Given the description of an element on the screen output the (x, y) to click on. 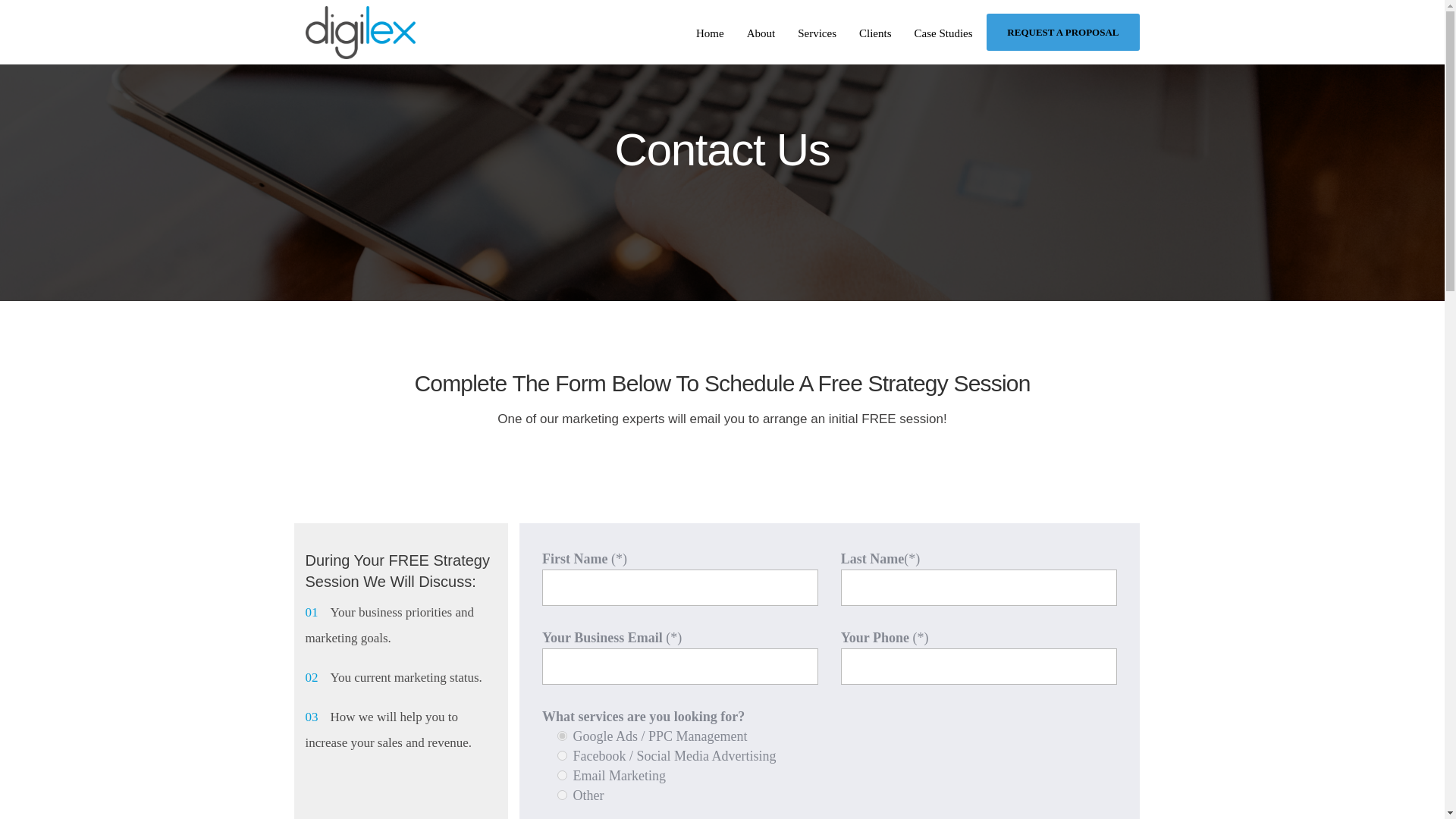
About (761, 33)
Home (709, 33)
Clients (874, 33)
REQUEST A PROPOSAL (1062, 31)
Services (816, 33)
Other (562, 795)
Email Marketing (562, 775)
Search (366, 486)
Case Studies (943, 33)
